Given the description of an element on the screen output the (x, y) to click on. 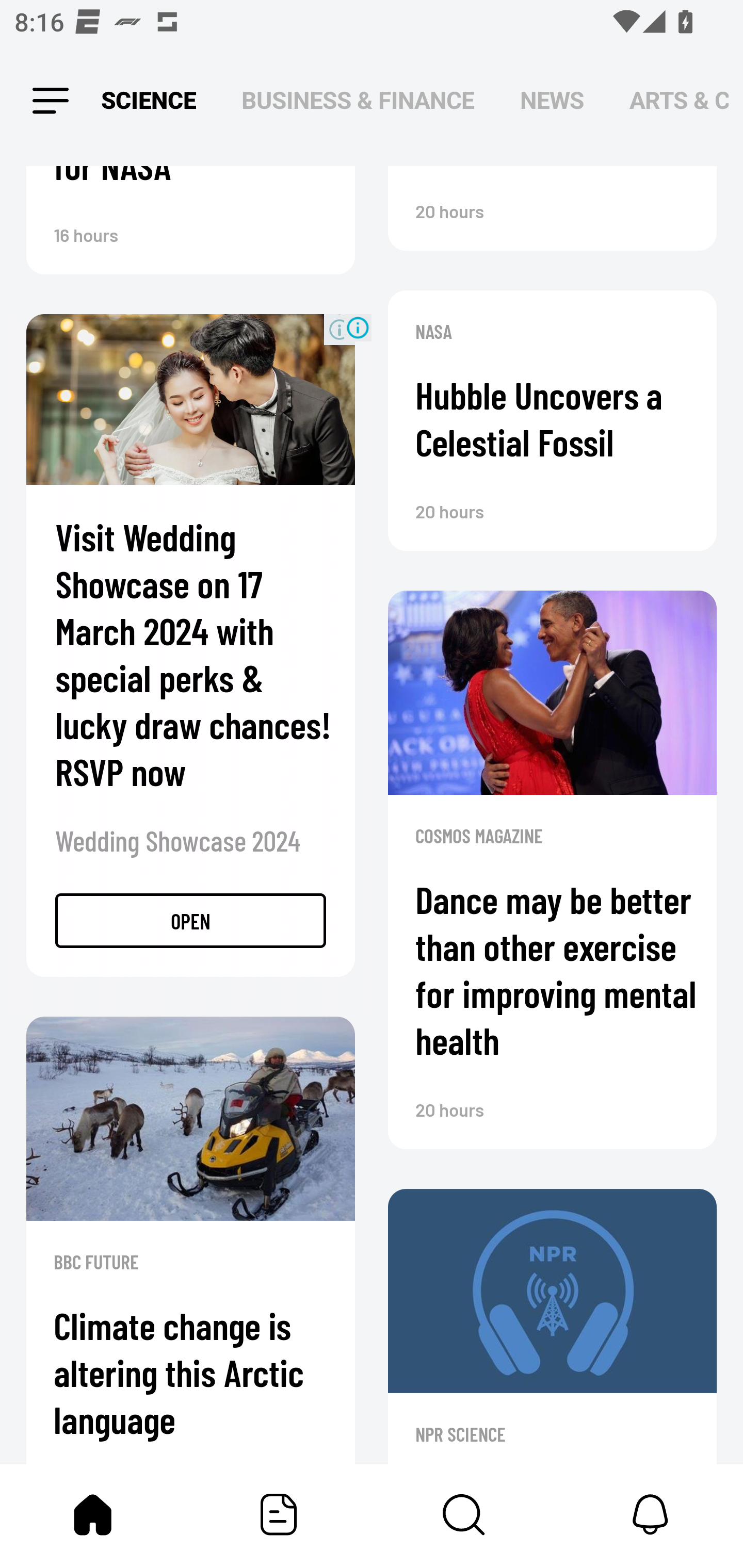
Leading Icon (50, 101)
BUSINESS & FINANCE (357, 100)
NEWS (551, 100)
ARTS & CULTURE (678, 100)
Ad Choices Icon (357, 327)
Featured (278, 1514)
Content Store (464, 1514)
Notifications (650, 1514)
